Given the description of an element on the screen output the (x, y) to click on. 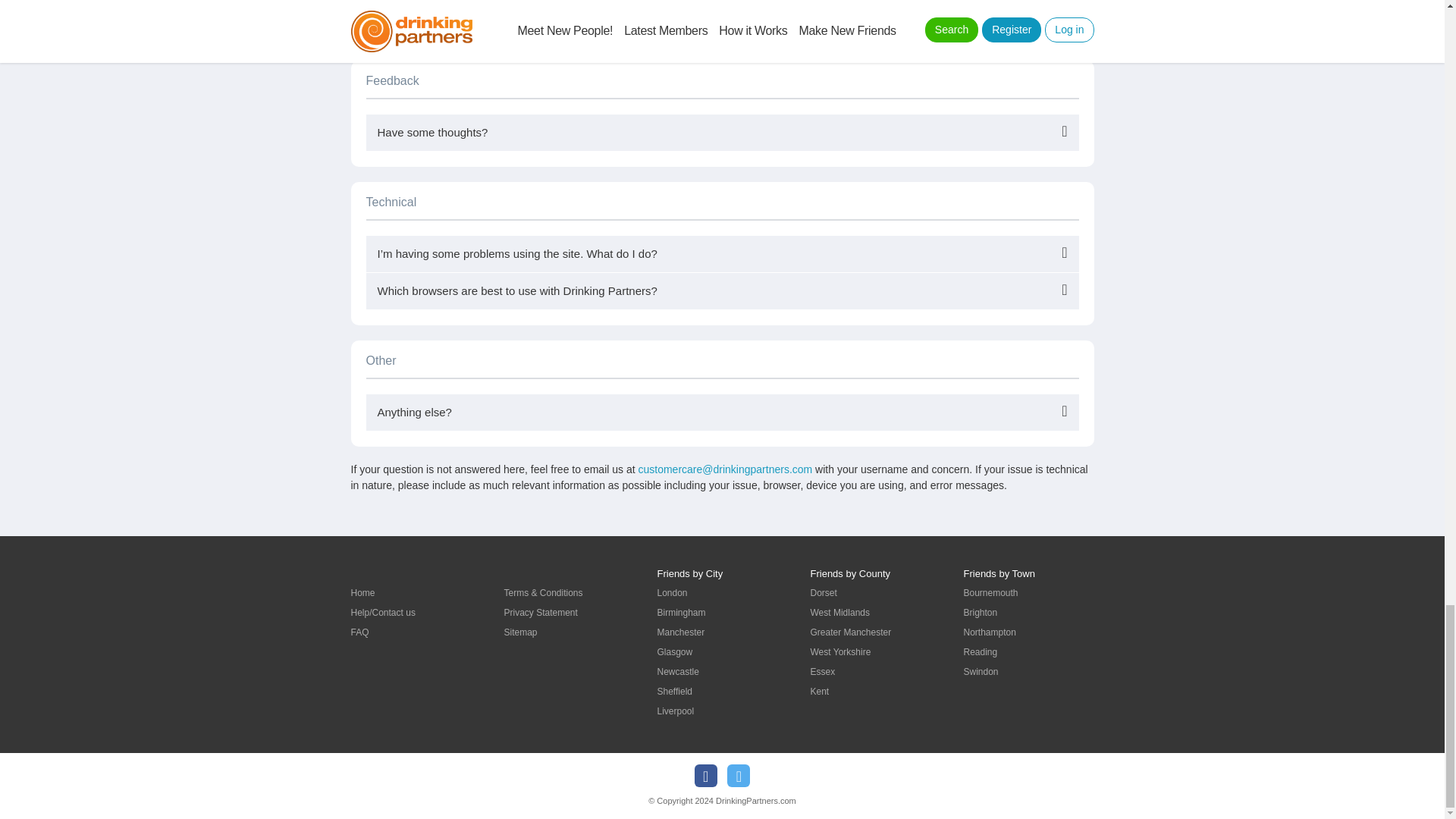
Make Friends (362, 593)
Contact DrinkingPartners.com (382, 612)
Meeting New People (359, 632)
